Given the description of an element on the screen output the (x, y) to click on. 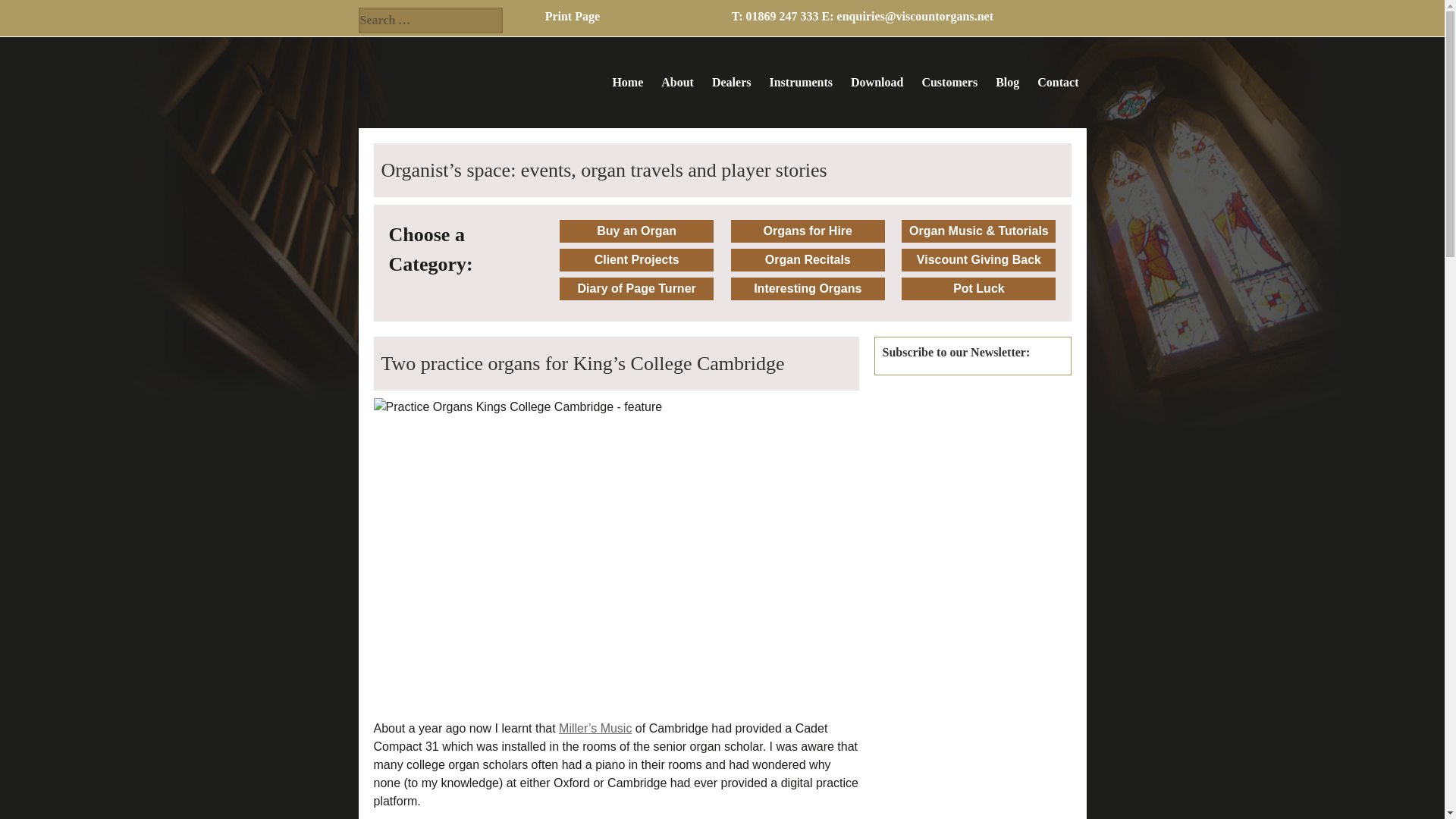
Download (877, 82)
Instruments (800, 82)
Print Page (571, 15)
Viscount Organs (434, 82)
Search for: (430, 20)
Dealers (731, 82)
Customers (949, 82)
